Given the description of an element on the screen output the (x, y) to click on. 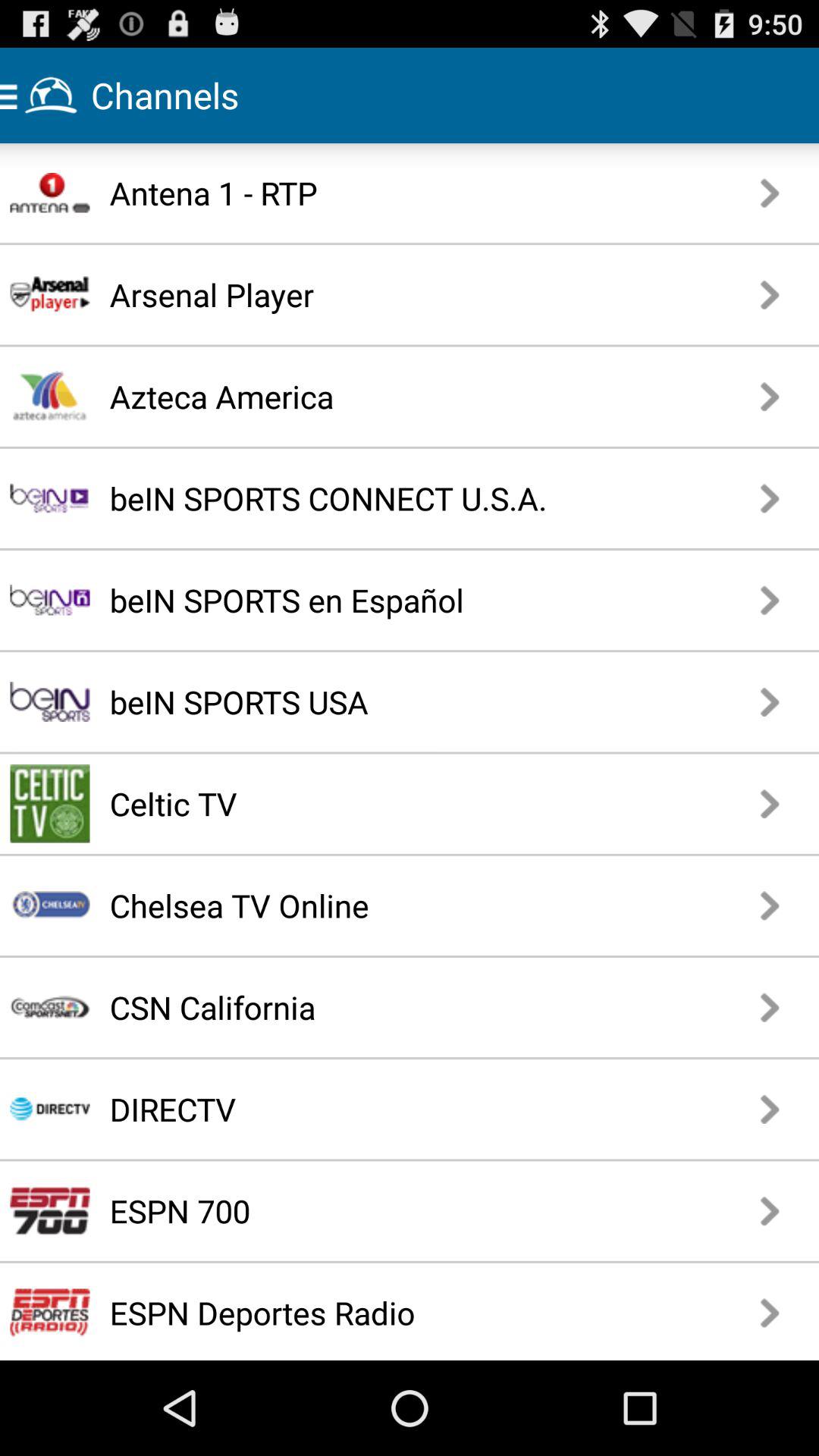
click item above espn deportes radio app (357, 1210)
